Given the description of an element on the screen output the (x, y) to click on. 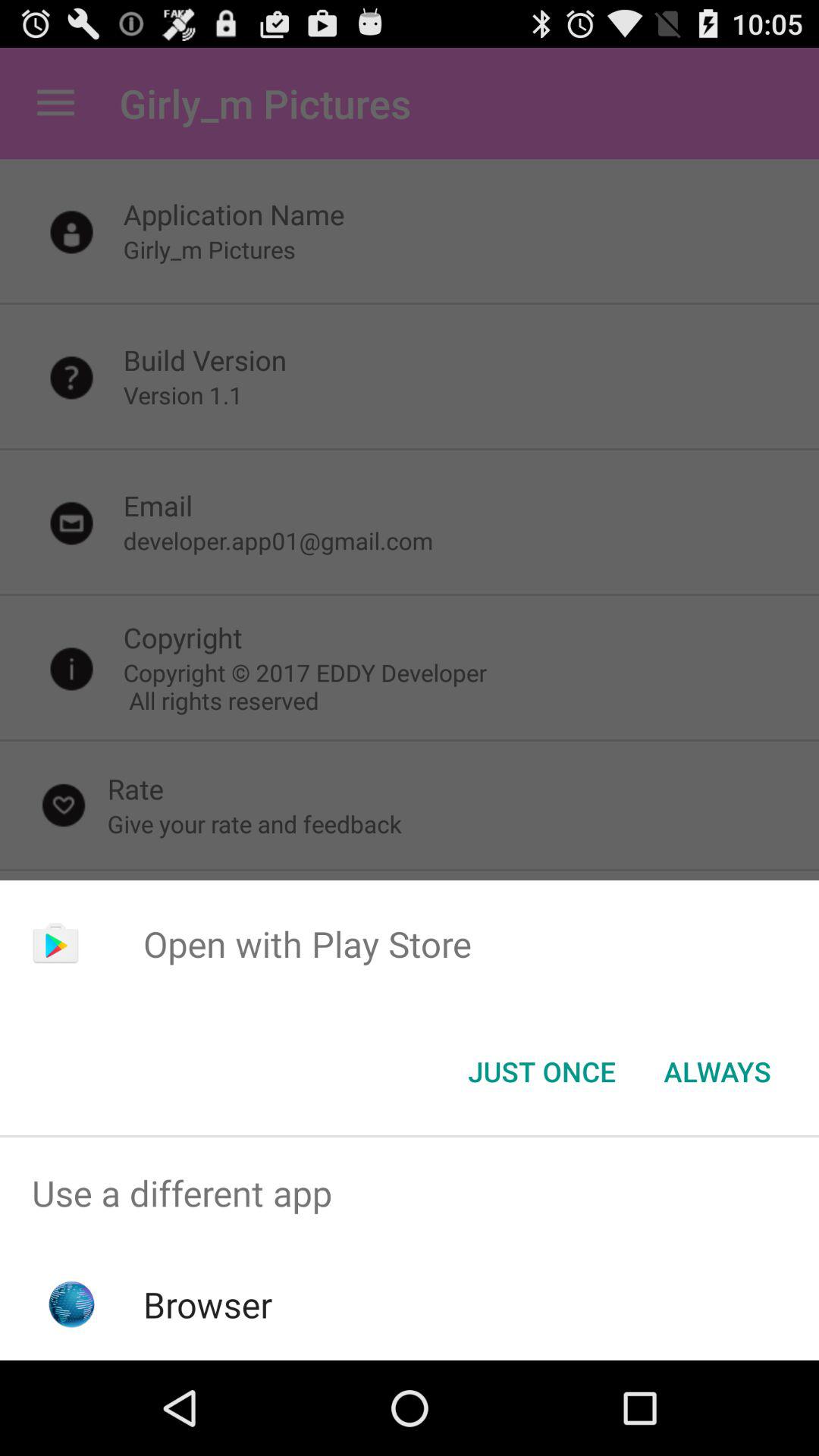
tap item below the use a different item (207, 1304)
